Given the description of an element on the screen output the (x, y) to click on. 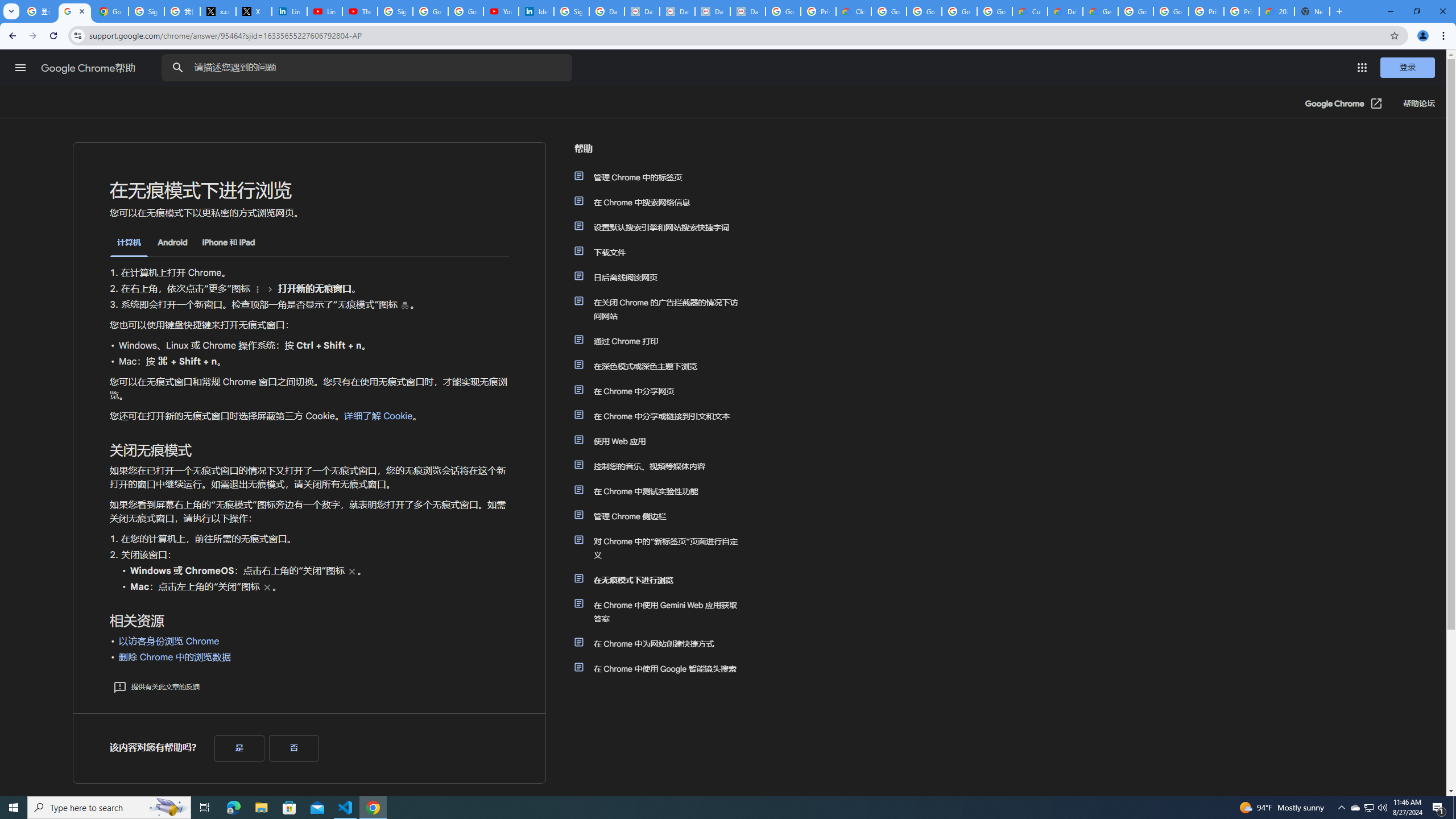
Google Cloud Platform (1170, 11)
